Given the description of an element on the screen output the (x, y) to click on. 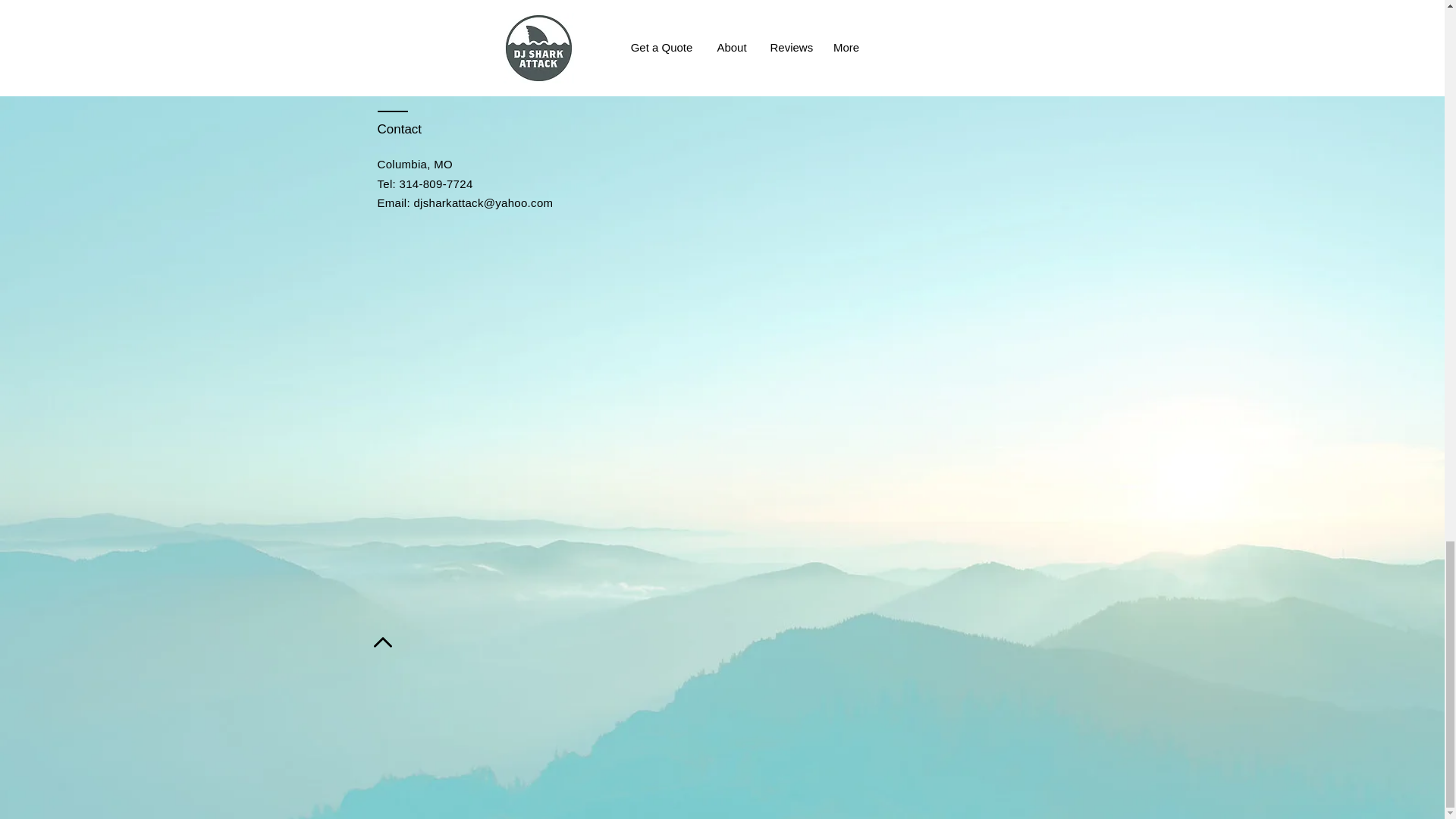
Post not marked as liked (558, 24)
0 (926, 25)
0 (681, 25)
0 (435, 25)
Post not marked as liked (1050, 24)
Post not marked as liked (804, 24)
